Given the description of an element on the screen output the (x, y) to click on. 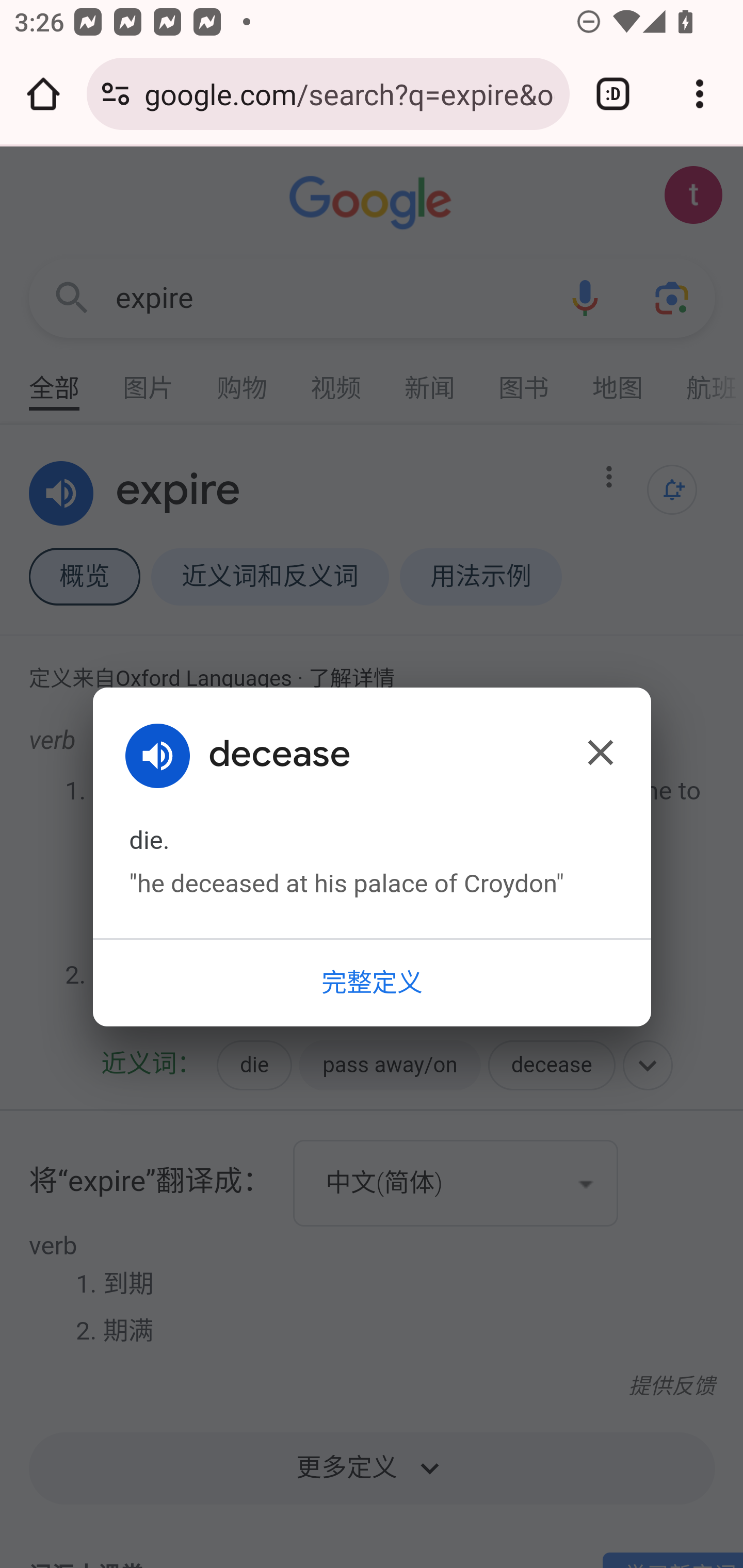
Open the home page (43, 93)
Connection is secure (115, 93)
Switch or close tabs (612, 93)
Customize and control Google Chrome (699, 93)
 收听  (164, 755)
退出代码段 (600, 751)
完整定义 (371, 981)
